Given the description of an element on the screen output the (x, y) to click on. 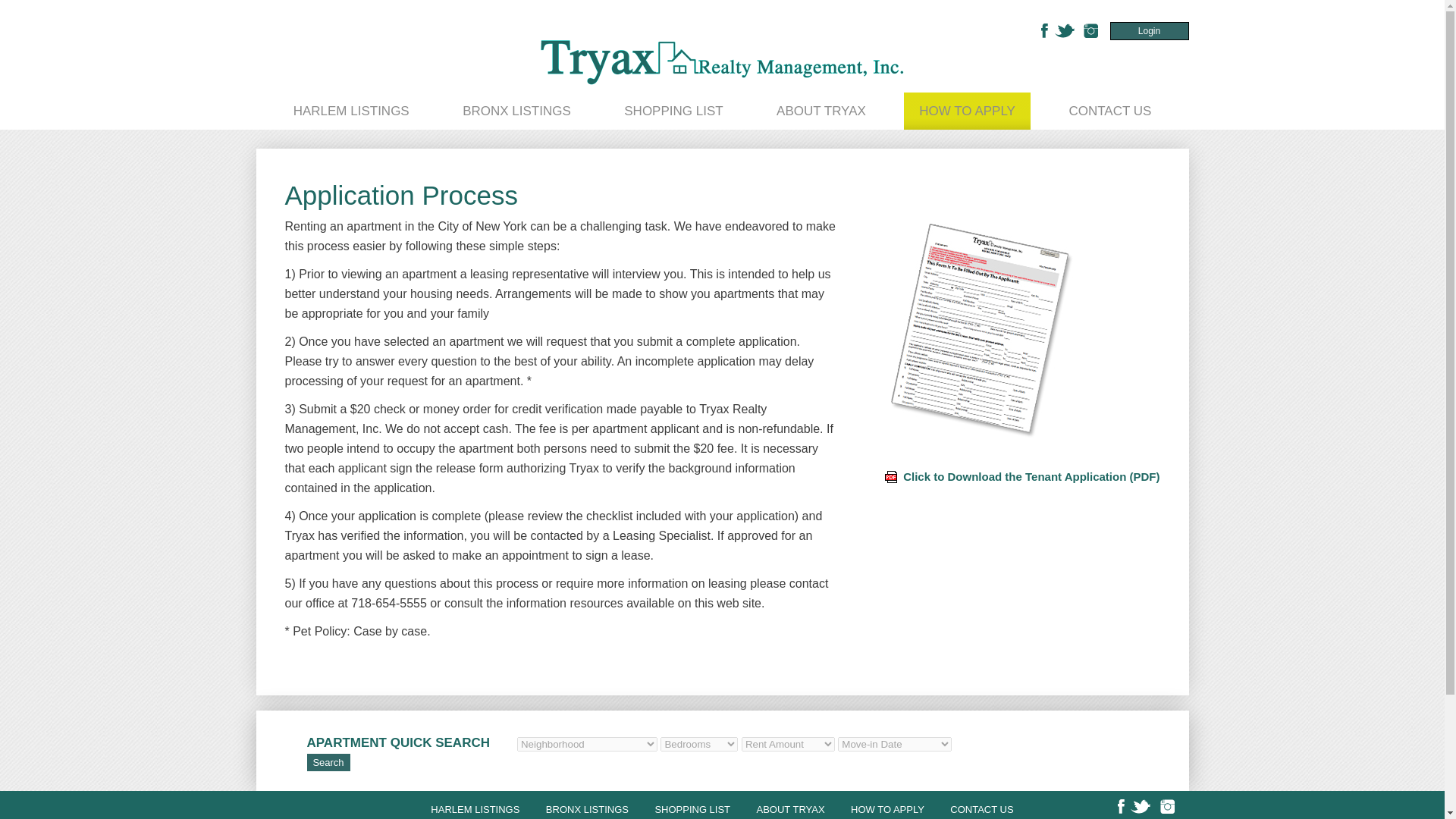
Search (327, 762)
CONTACT US (1109, 110)
Shopping List (691, 808)
SHOPPING LIST (673, 110)
Bronx Listings (516, 110)
Shopping List (673, 110)
HARLEM LISTINGS (351, 110)
Harlem Listings (351, 110)
ABOUT TRYAX (820, 110)
Search (327, 762)
BRONX LISTINGS (516, 110)
Contact Us (1109, 110)
Bronx Listings (587, 808)
Login (1149, 31)
SHOPPING LIST (691, 808)
